Given the description of an element on the screen output the (x, y) to click on. 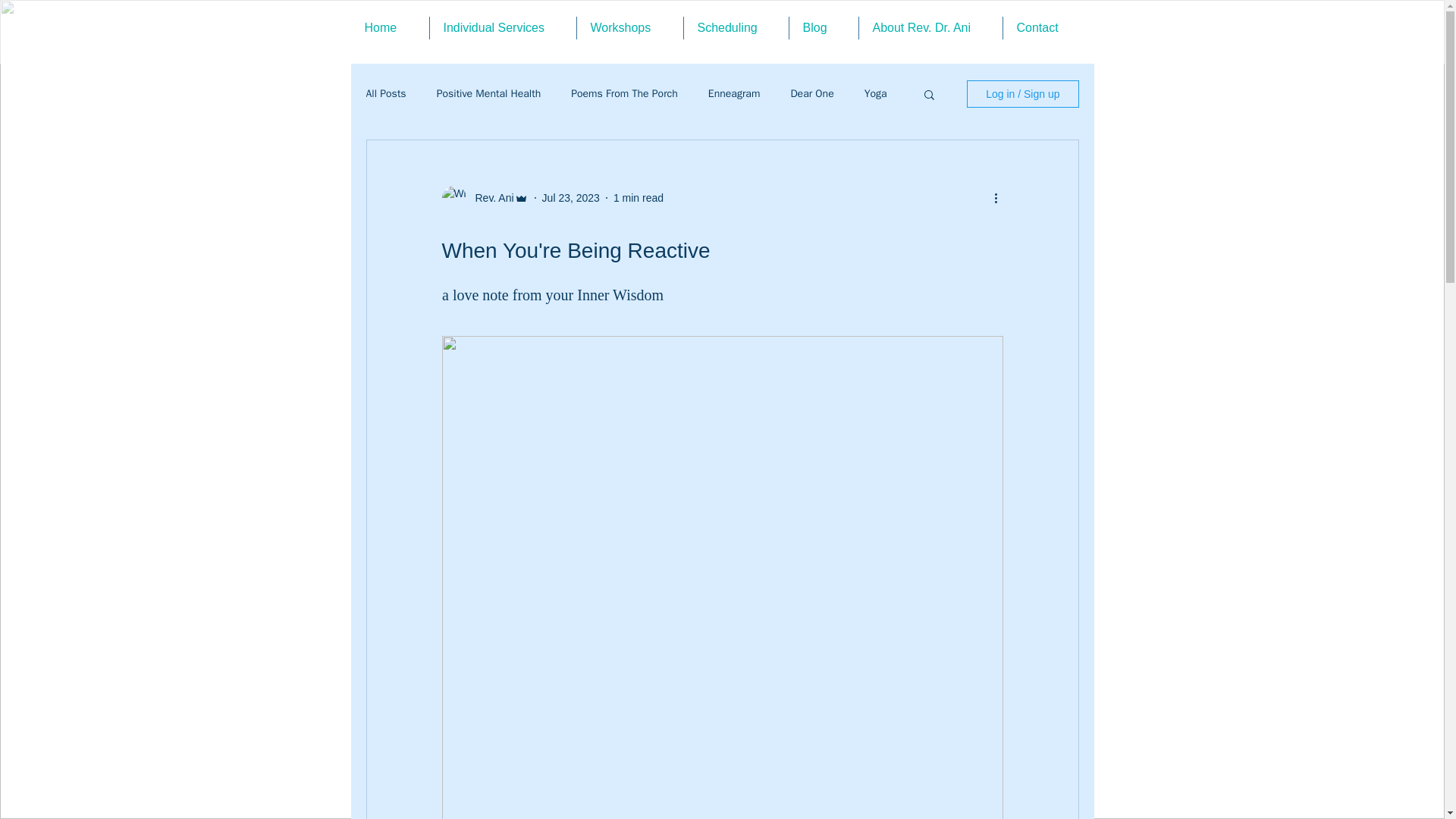
Poems From The Porch (624, 93)
Rev. Ani (489, 197)
1 min read (637, 196)
Individual Services (502, 27)
All Posts (385, 93)
Scheduling (737, 27)
Positive Mental Health (488, 93)
About Rev. Dr. Ani (931, 27)
Yoga (875, 93)
Workshops (631, 27)
Contact (1046, 27)
Jul 23, 2023 (570, 196)
Dear One (811, 93)
Enneagram (733, 93)
Blog (823, 27)
